Given the description of an element on the screen output the (x, y) to click on. 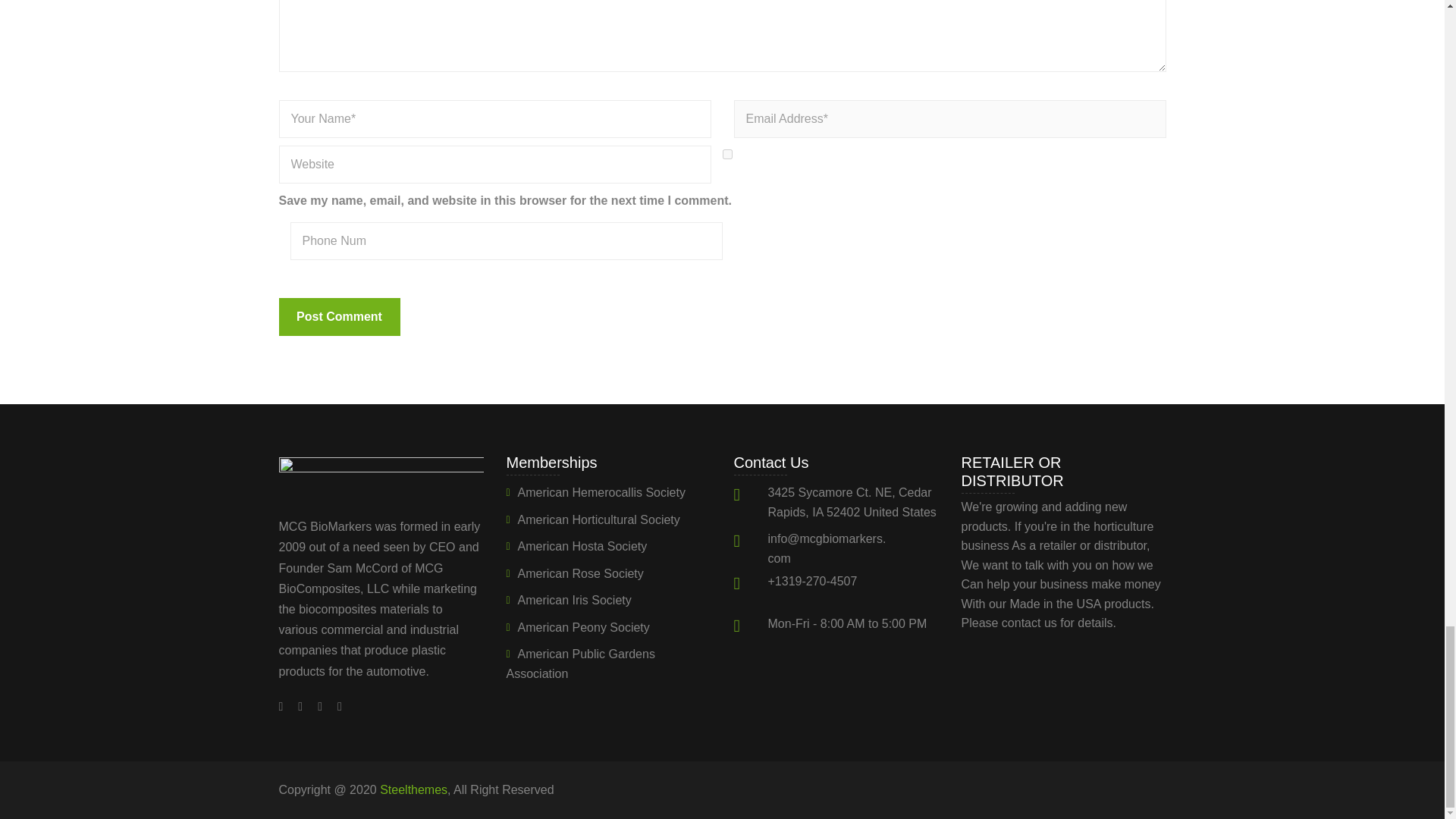
Facebook (285, 706)
yes (727, 153)
Linkedin (336, 706)
Skype (320, 706)
Post Comment (339, 316)
Twitter (299, 706)
